Given the description of an element on the screen output the (x, y) to click on. 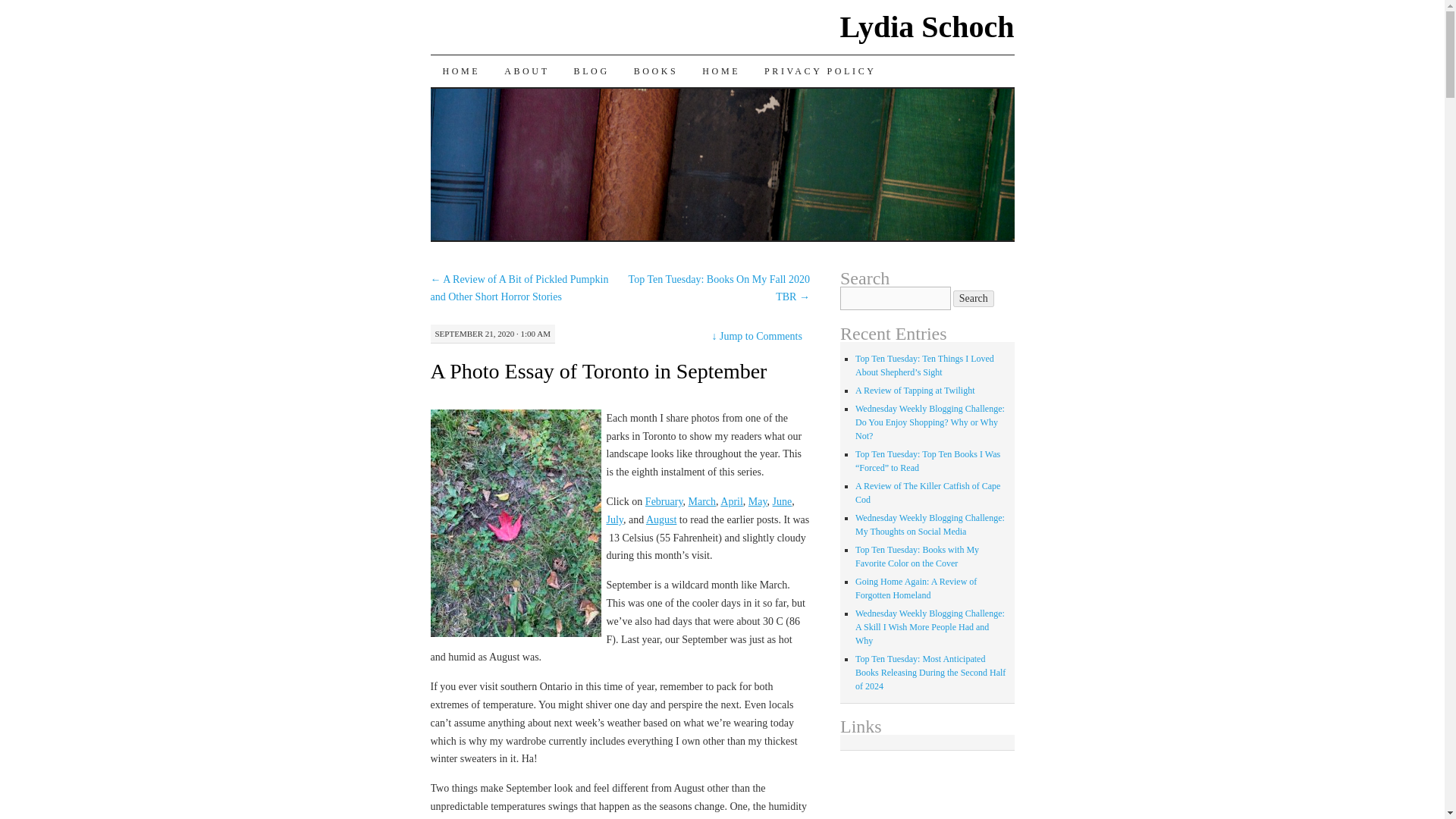
ABOUT (526, 70)
Search (973, 298)
Lydia Schoch (926, 26)
SKIP TO CONTENT (440, 101)
April (731, 501)
August (661, 519)
July (615, 519)
Skip to content (440, 101)
May (757, 501)
BLOG (591, 70)
BOOKS (655, 70)
June (782, 501)
March (701, 501)
February (663, 501)
HOME (721, 70)
